Given the description of an element on the screen output the (x, y) to click on. 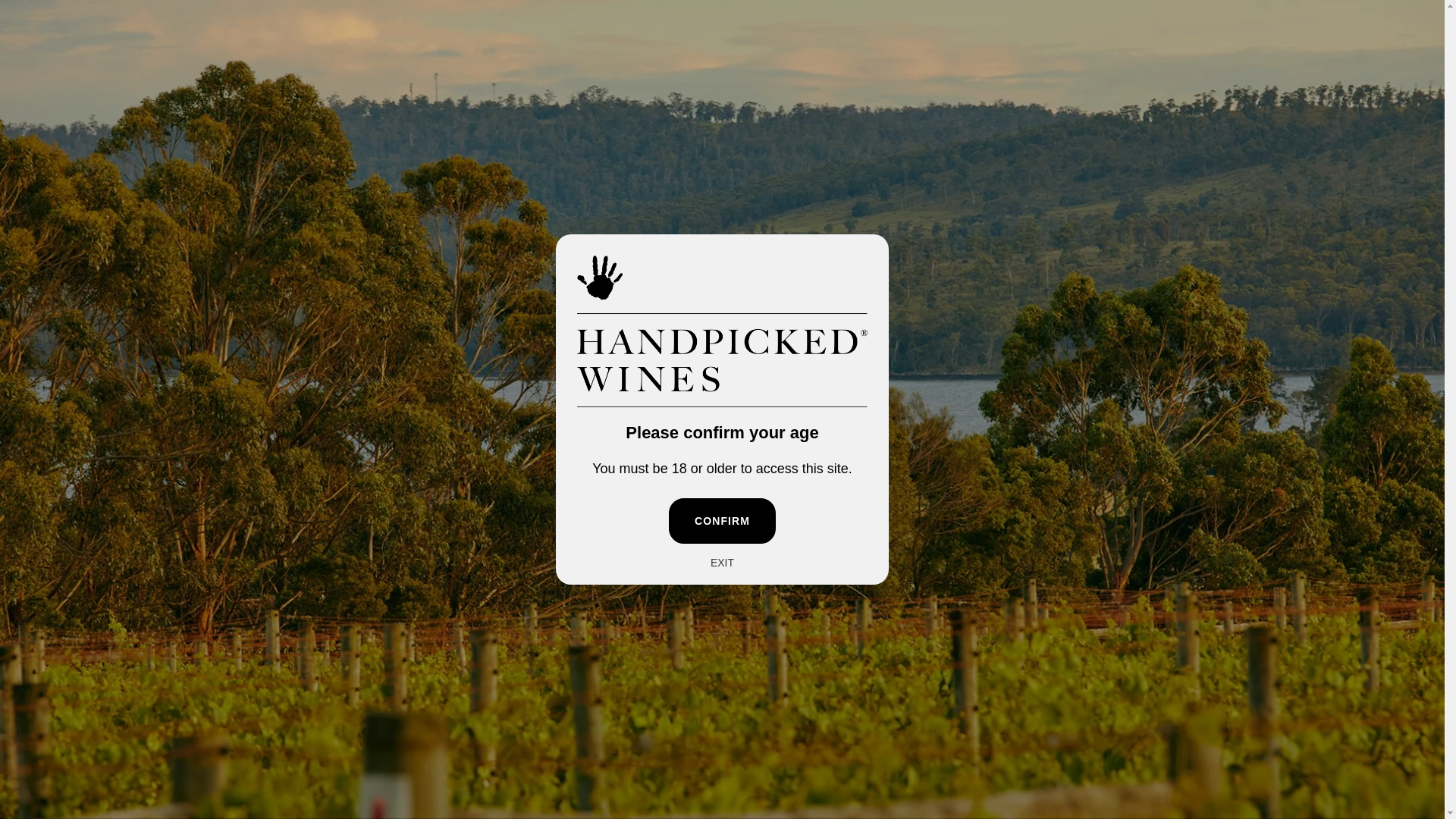
CONFIRM Element type: text (721, 520)
Handpicked Wines Element type: hover (722, 76)
Instagram Element type: text (78, 22)
Shipping / FAQ's Element type: text (522, 465)
try a search Element type: text (829, 251)
Terms & Conditions Element type: text (1299, 742)
Our Vineyards Element type: text (1330, 465)
home page Element type: text (757, 251)
Facebook Element type: text (56, 22)
Search Element type: text (1333, 76)
Shop Element type: text (123, 76)
www.drinkwise.org.au Element type: text (145, 674)
Twitter Element type: text (43, 418)
Facebook Element type: text (65, 418)
Instagram Element type: text (87, 418)
Wines Element type: text (495, 421)
Privacy Policy Element type: text (1380, 742)
Career Opportunities Element type: text (1347, 488)
Handpicked Wines Element type: text (103, 707)
Click here for T&Cs Element type: text (882, 21)
Visit Element type: text (180, 76)
About Element type: text (62, 76)
Winemaking Element type: text (1326, 443)
Cart Element type: text (1394, 76)
Rewards Club Element type: text (930, 421)
Cheese Shop Element type: text (512, 443)
Twitter Element type: text (35, 22)
Contact Element type: text (336, 76)
Membership Element type: text (254, 76)
EXIT Element type: text (722, 562)
Blog Posts Element type: text (1321, 421)
Account Element type: text (1277, 76)
News Element type: text (1308, 510)
Terms & Conditions Element type: text (1344, 532)
